Given the description of an element on the screen output the (x, y) to click on. 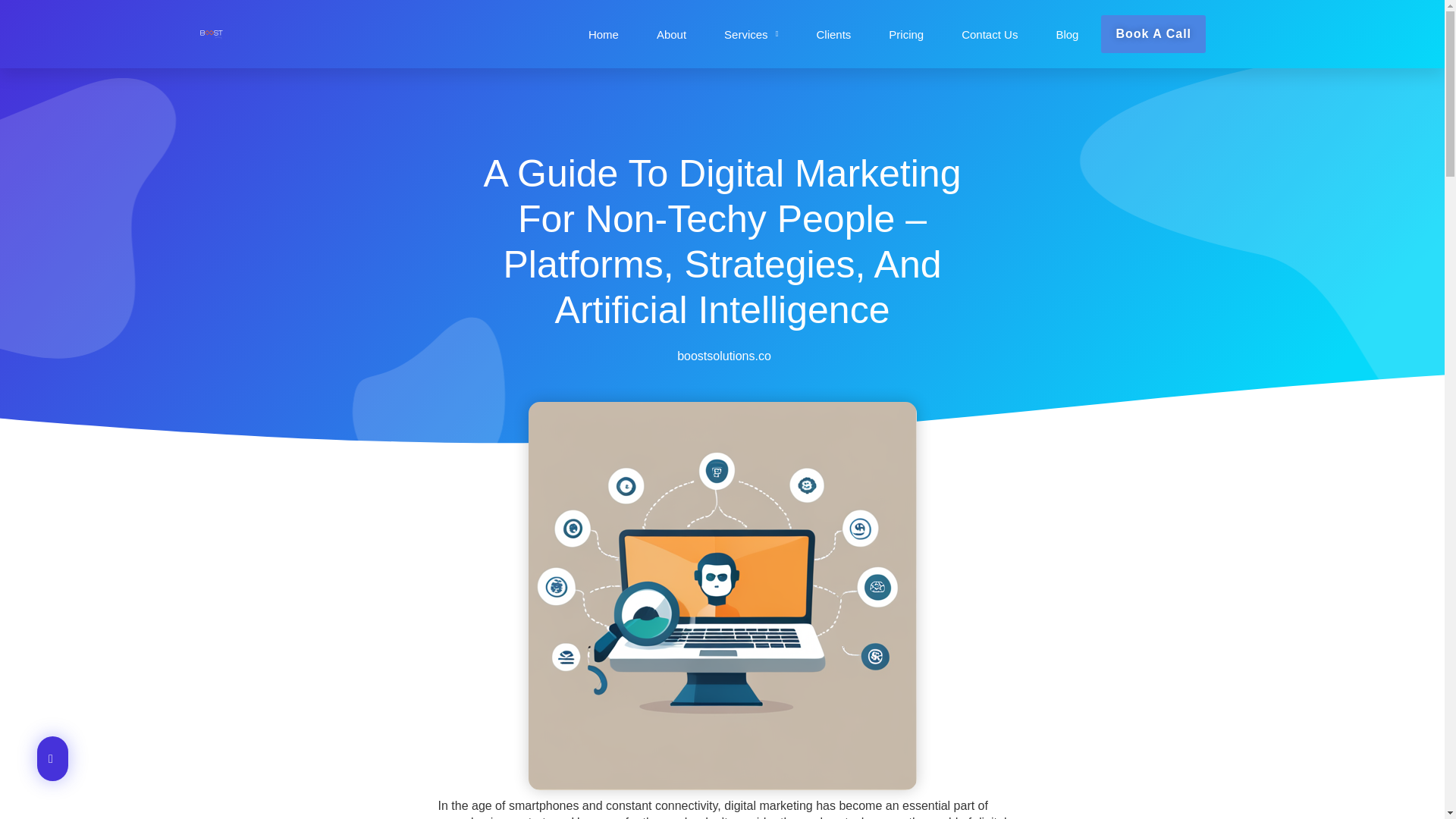
Contact Us (988, 34)
Clients (832, 34)
Pricing (905, 34)
Book A Call (1152, 33)
Services (750, 34)
Home (603, 34)
About (670, 34)
Blog (1066, 34)
